Given the description of an element on the screen output the (x, y) to click on. 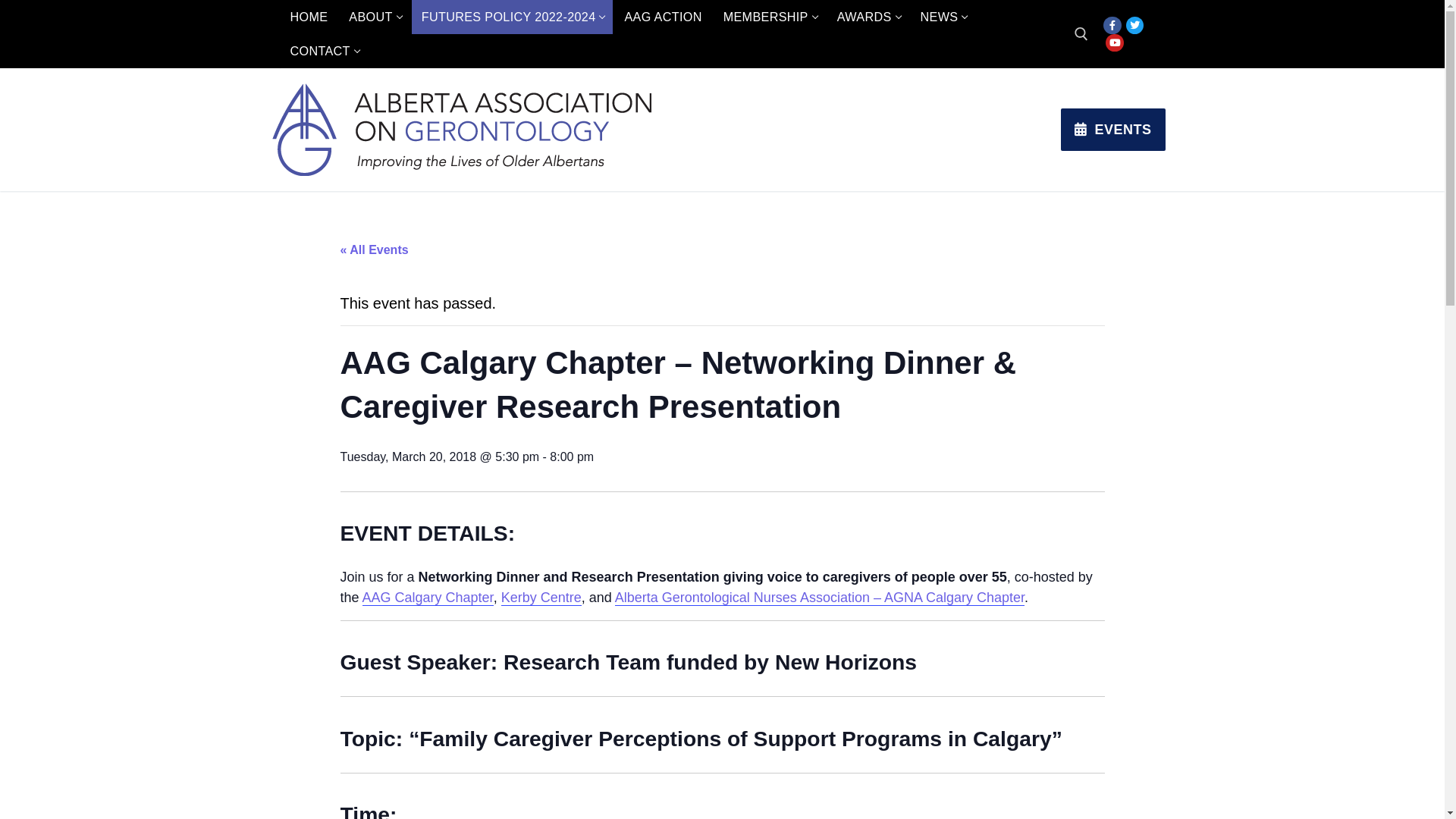
Twitter Element type: hover (1134, 25)
Facebook Element type: text (1111, 25)
AWARDS
  Element type: text (868, 17)
AAG ACTION Element type: text (662, 17)
FUTURES POLICY 2022-2024
  Element type: text (512, 17)
Twitter Element type: text (1134, 25)
Facebook Element type: hover (1112, 25)
Youtube Element type: text (1114, 42)
Kerby Centre Element type: text (541, 597)
HOME Element type: text (309, 17)
MEMBERSHIP
  Element type: text (769, 17)
CONTACT
  Element type: text (323, 51)
Youtube Element type: hover (1115, 42)
AAG Calgary Chapter Element type: text (427, 597)
EVENTS Element type: text (1112, 129)
ABOUT
  Element type: text (373, 17)
NEWS
  Element type: text (942, 17)
